Given the description of an element on the screen output the (x, y) to click on. 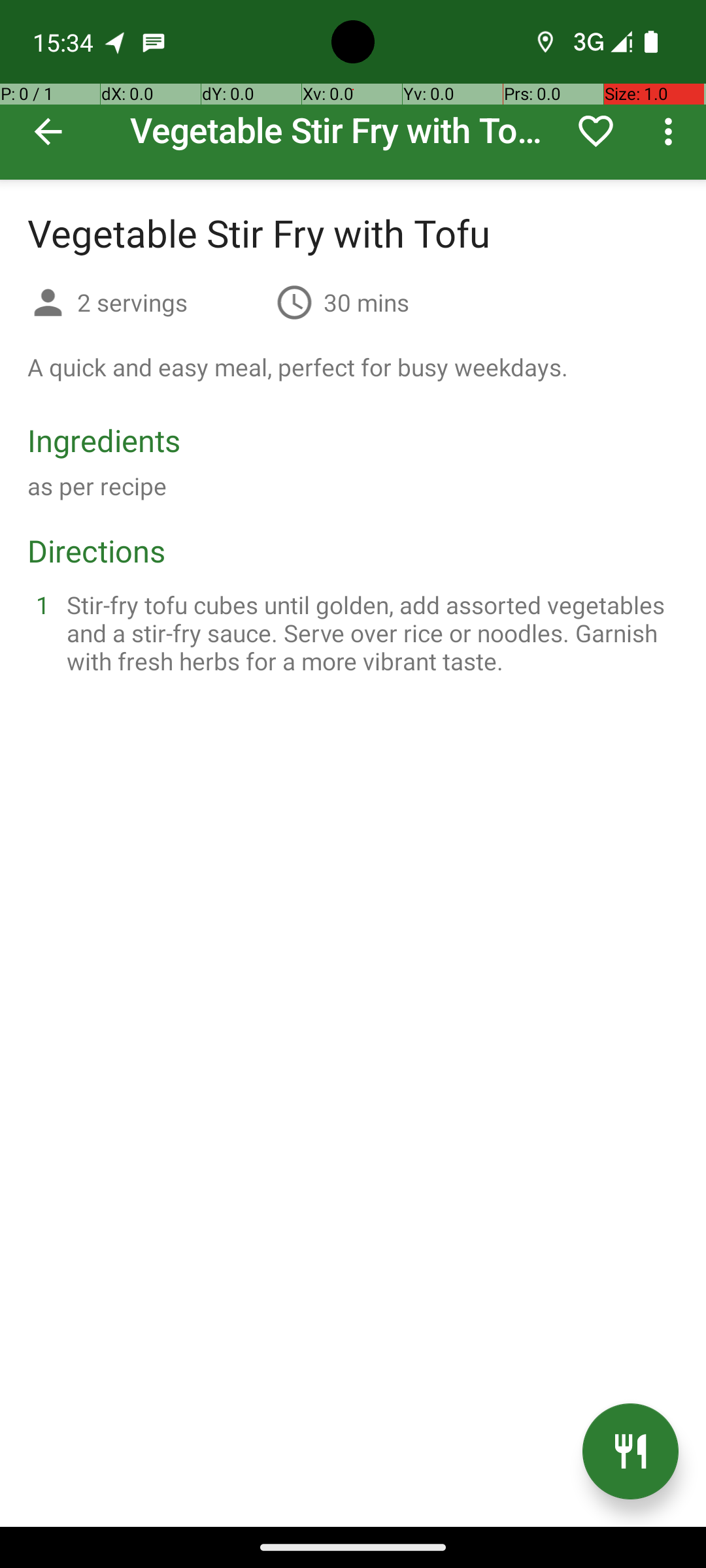
Vegetable Stir Fry with Tofu Element type: android.widget.FrameLayout (353, 89)
as per recipe Element type: android.widget.TextView (96, 485)
Stir-fry tofu cubes until golden, add assorted vegetables and a stir-fry sauce. Serve over rice or noodles. Garnish with fresh herbs for a more vibrant taste. Element type: android.widget.TextView (368, 632)
SMS Messenger notification: Noa Mohamed Element type: android.widget.ImageView (153, 41)
